Given the description of an element on the screen output the (x, y) to click on. 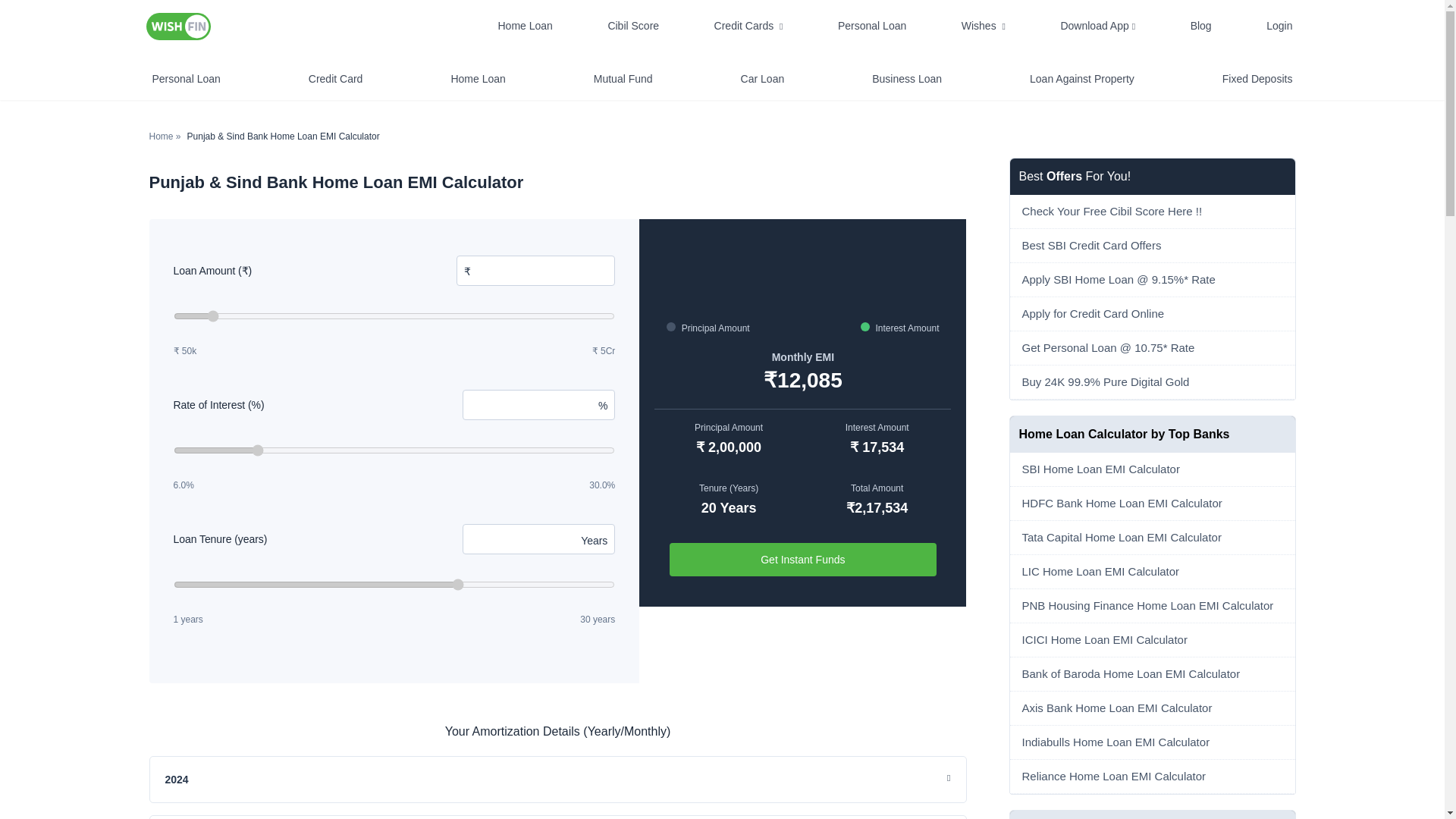
10 (393, 450)
3000000 (393, 316)
Cibil Score (633, 25)
Home Loan (524, 25)
Personal Loan (871, 25)
20 (393, 584)
